Given the description of an element on the screen output the (x, y) to click on. 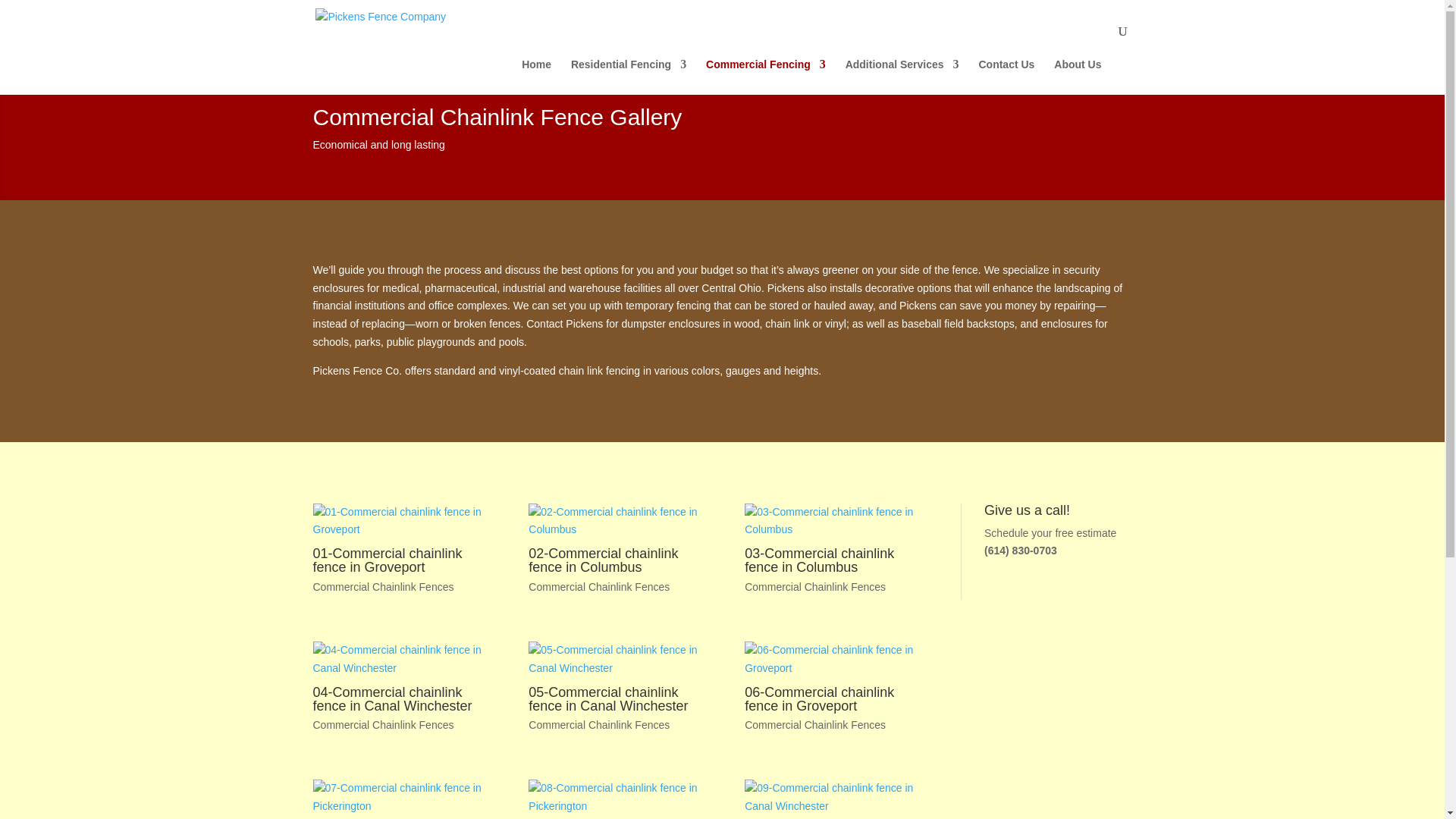
Commercial Chainlink Fences (382, 725)
01-Commercial chainlink fence in Groveport (387, 560)
05-Commercial chainlink fence in Canal Winchester (607, 698)
04-Commercial chainlink fence in Canal Winchester (398, 659)
03-Commercial chainlink fence in Columbus (829, 521)
01-Commercial chainlink fence in Groveport (398, 521)
Commercial Chainlink Fences (598, 725)
02-Commercial chainlink fence in Columbus (613, 521)
About Us (1077, 76)
Additional Services (902, 76)
05-Commercial chainlink fence in Canal Winchester (613, 659)
Commercial Chainlink Fences (814, 586)
05-Commercial chainlink fence in Canal Winchester (607, 698)
Home (536, 76)
Commercial Chainlink Fences (598, 586)
